Given the description of an element on the screen output the (x, y) to click on. 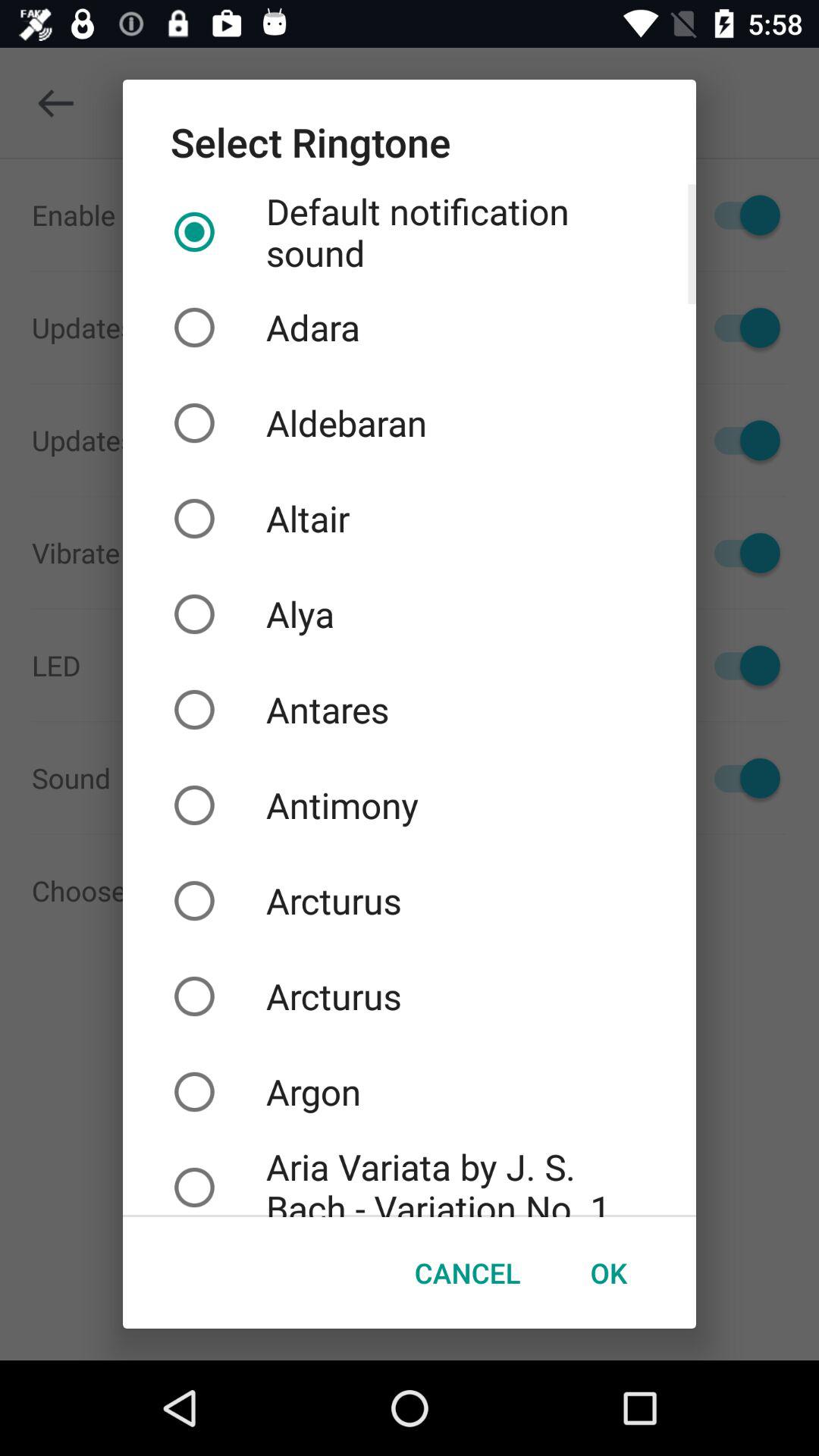
scroll until the ok (608, 1272)
